Given the description of an element on the screen output the (x, y) to click on. 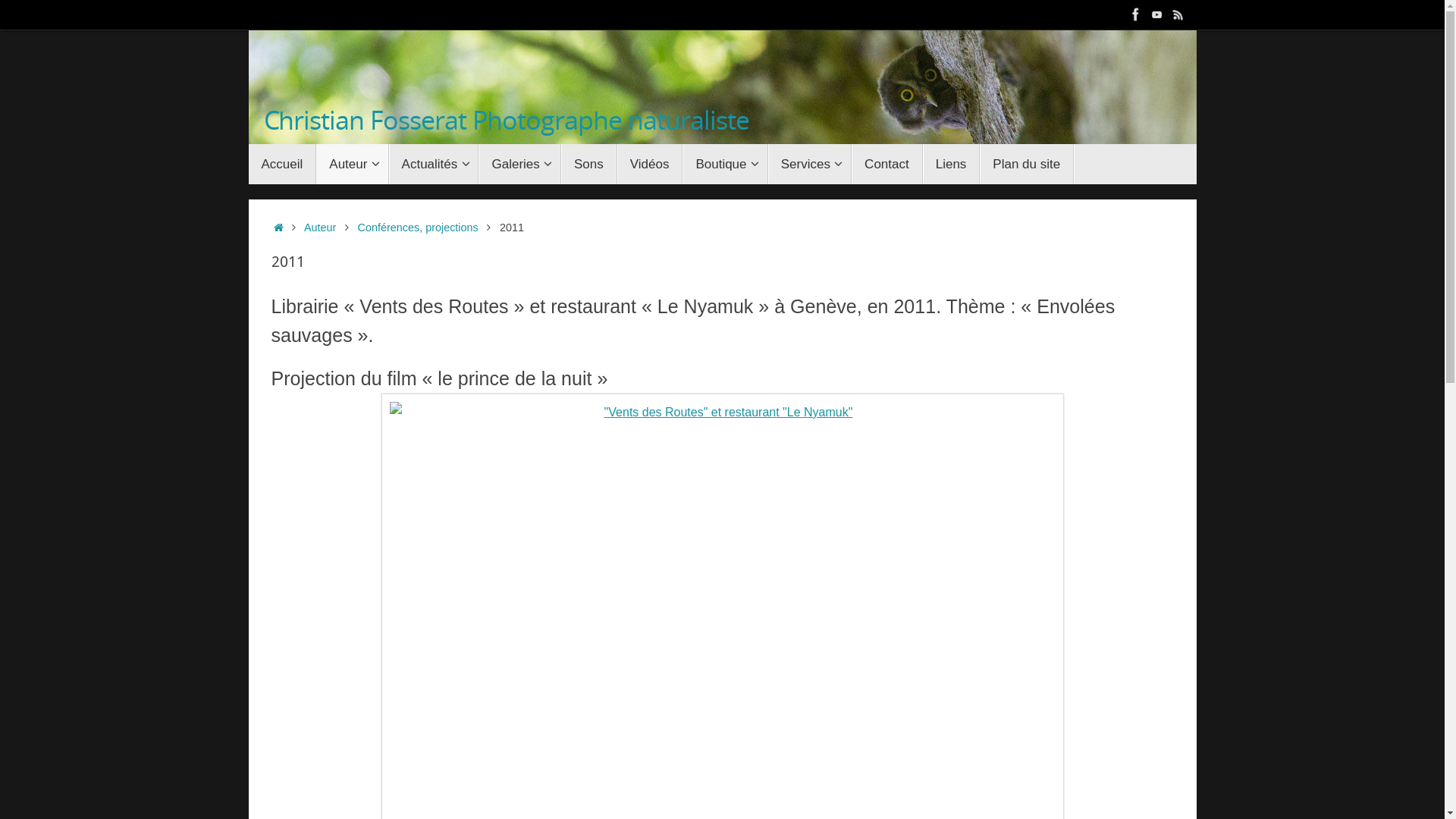
Christian Fosserat Photographe naturaliste Element type: text (506, 120)
Facebook Element type: hover (1135, 14)
RSS Element type: hover (1178, 14)
Sons Element type: text (589, 164)
Contact Element type: text (886, 164)
YouTube Element type: hover (1156, 14)
Accueil Element type: text (278, 227)
Boutique Element type: text (724, 164)
Passer au contenu Element type: text (247, 167)
Services Element type: text (809, 164)
Auteur Element type: text (352, 164)
Accueil Element type: text (282, 164)
Plan du site Element type: text (1026, 164)
Galeries Element type: text (519, 164)
Liens Element type: text (951, 164)
Christian Fosserat Photographe naturaliste Element type: hover (722, 87)
Auteur Element type: text (319, 227)
